Given the description of an element on the screen output the (x, y) to click on. 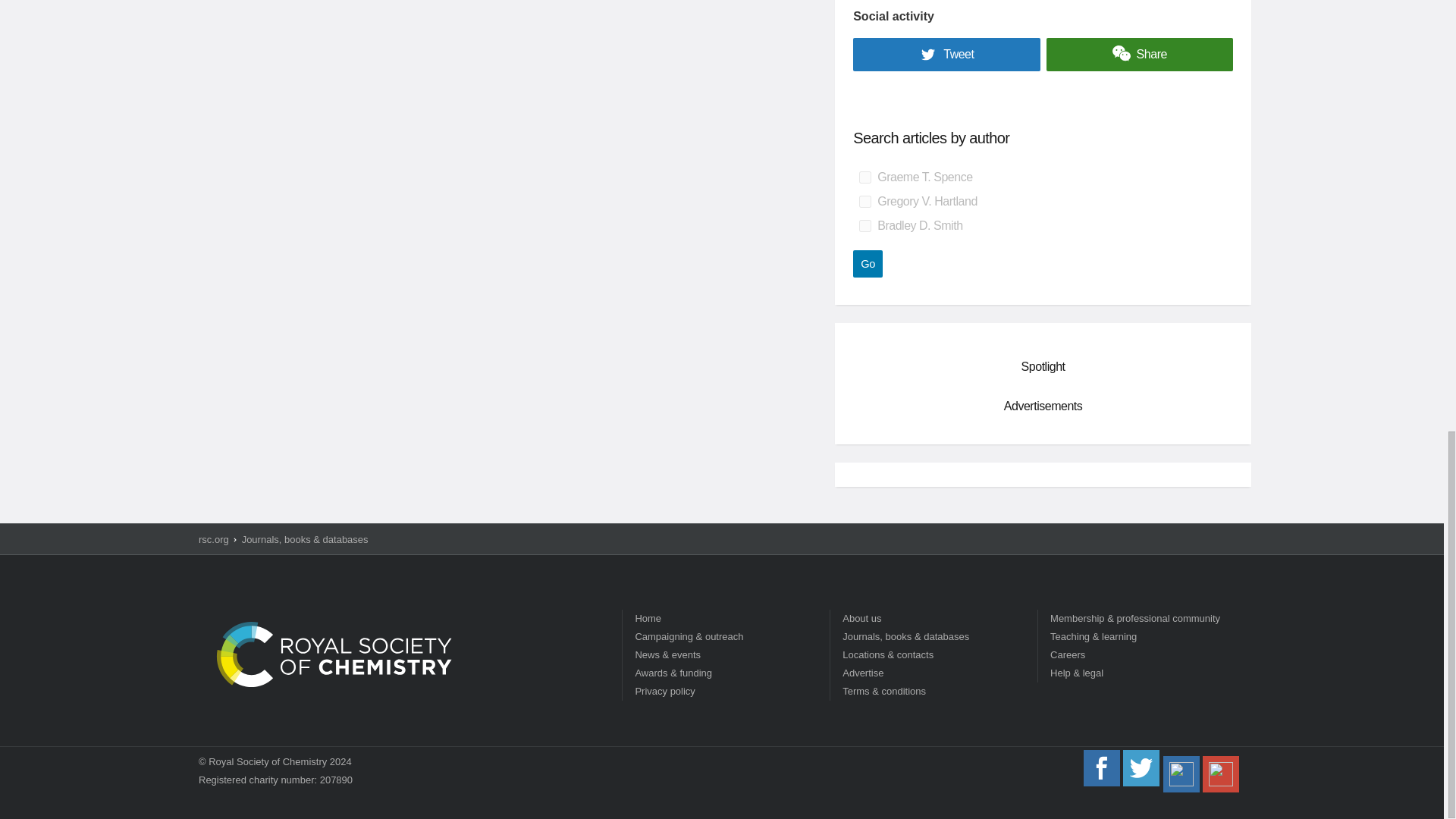
Go (867, 263)
on (864, 177)
on (864, 225)
on (864, 201)
Go (867, 263)
